Given the description of an element on the screen output the (x, y) to click on. 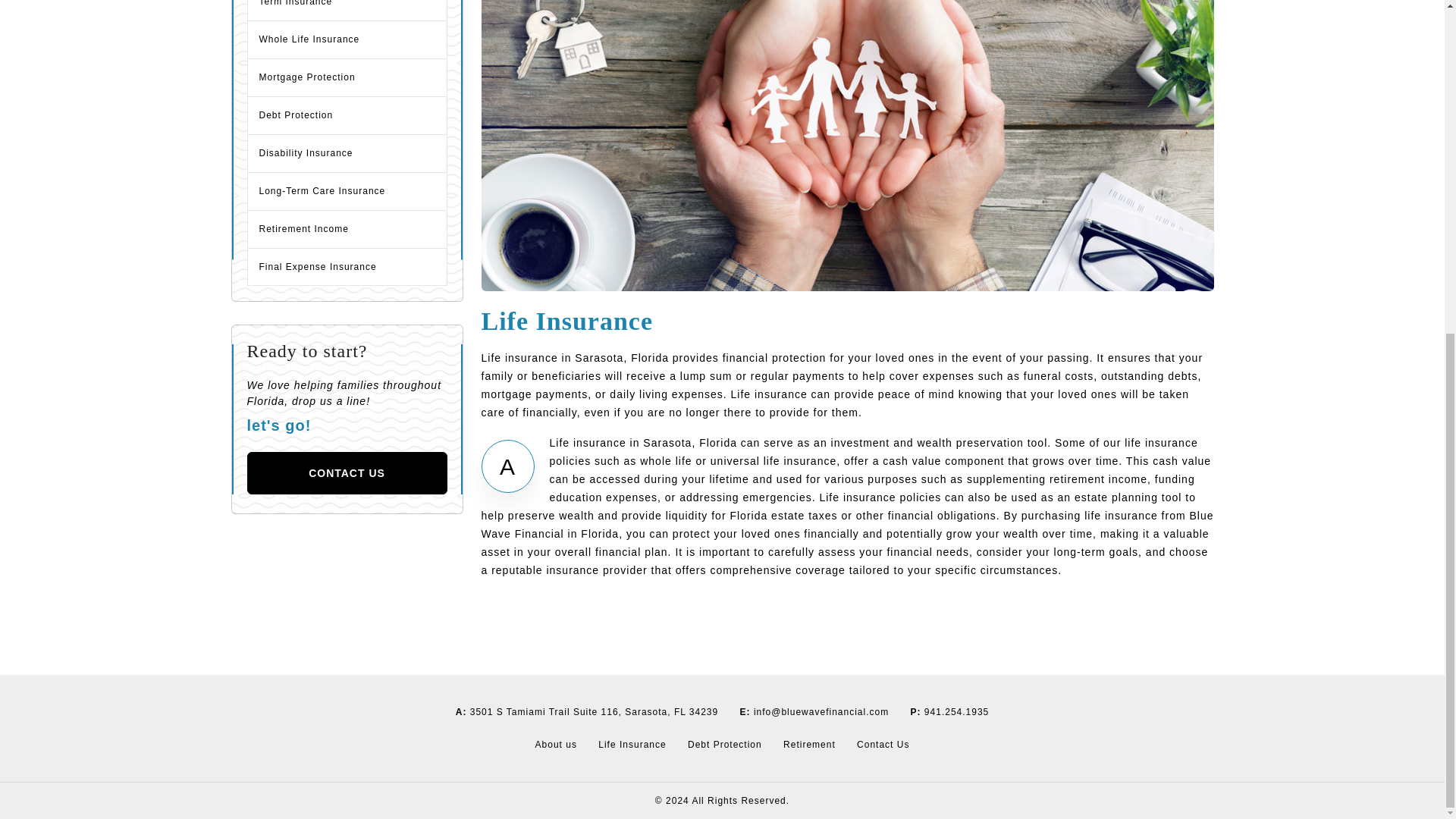
Mortgage Protection (346, 77)
Disability Insurance (346, 152)
Debt Protection (346, 115)
About us (556, 744)
Long-Term Care Insurance (346, 190)
Whole Life Insurance (346, 39)
A: 3501 S Tamiami Trail Suite 116, Sarasota, FL 34239 (587, 711)
Life Insurance (631, 744)
Debt Protection (724, 744)
Final Expense Insurance (346, 266)
CONTACT US (346, 472)
P: 941.254.1935 (949, 711)
Term Insurance (346, 10)
Retirement Income (346, 228)
